Given the description of an element on the screen output the (x, y) to click on. 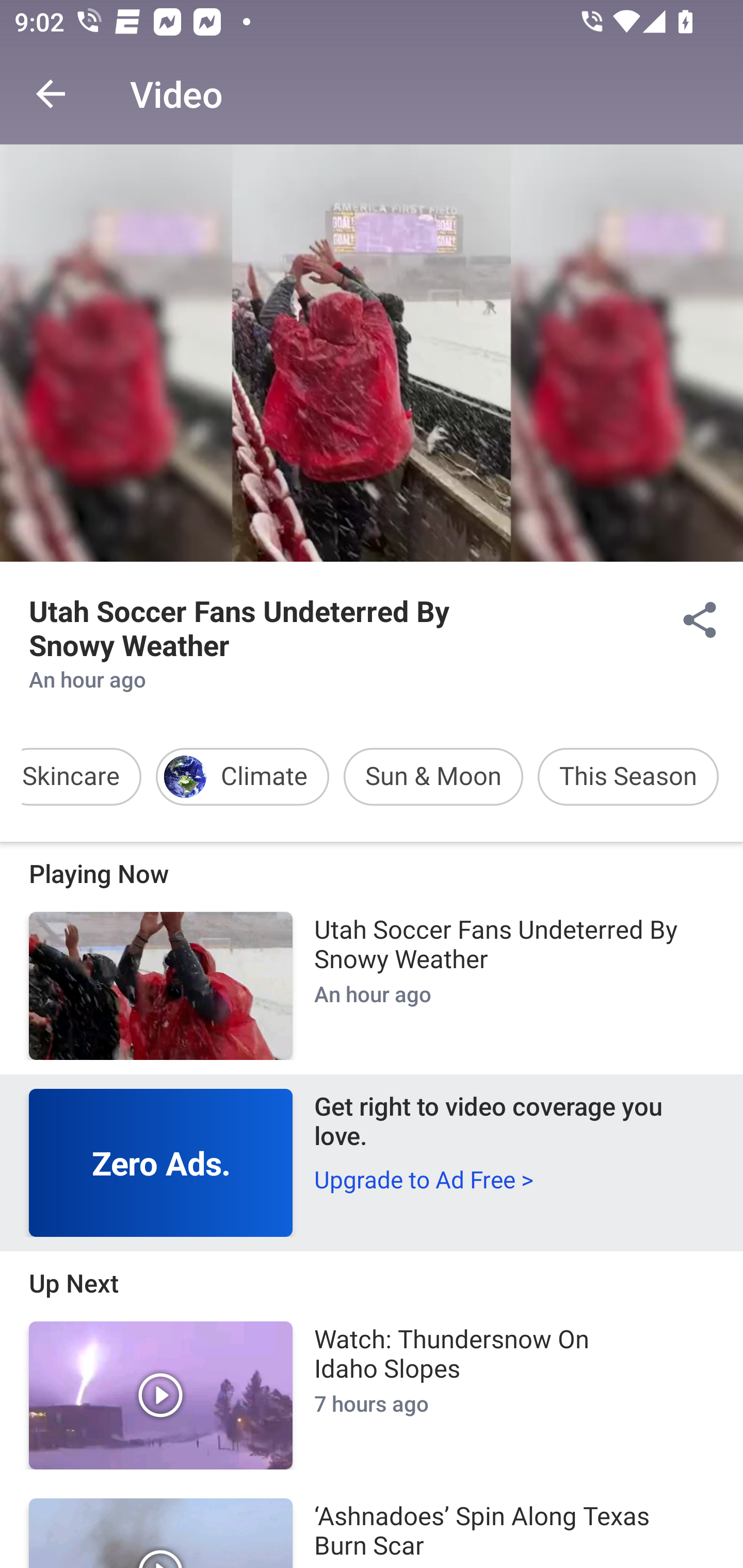
Navigate up (50, 93)
Skincare (70, 776)
Climate (242, 776)
Sun & Moon (433, 776)
This Season (627, 776)
Play (160, 1395)
